Given the description of an element on the screen output the (x, y) to click on. 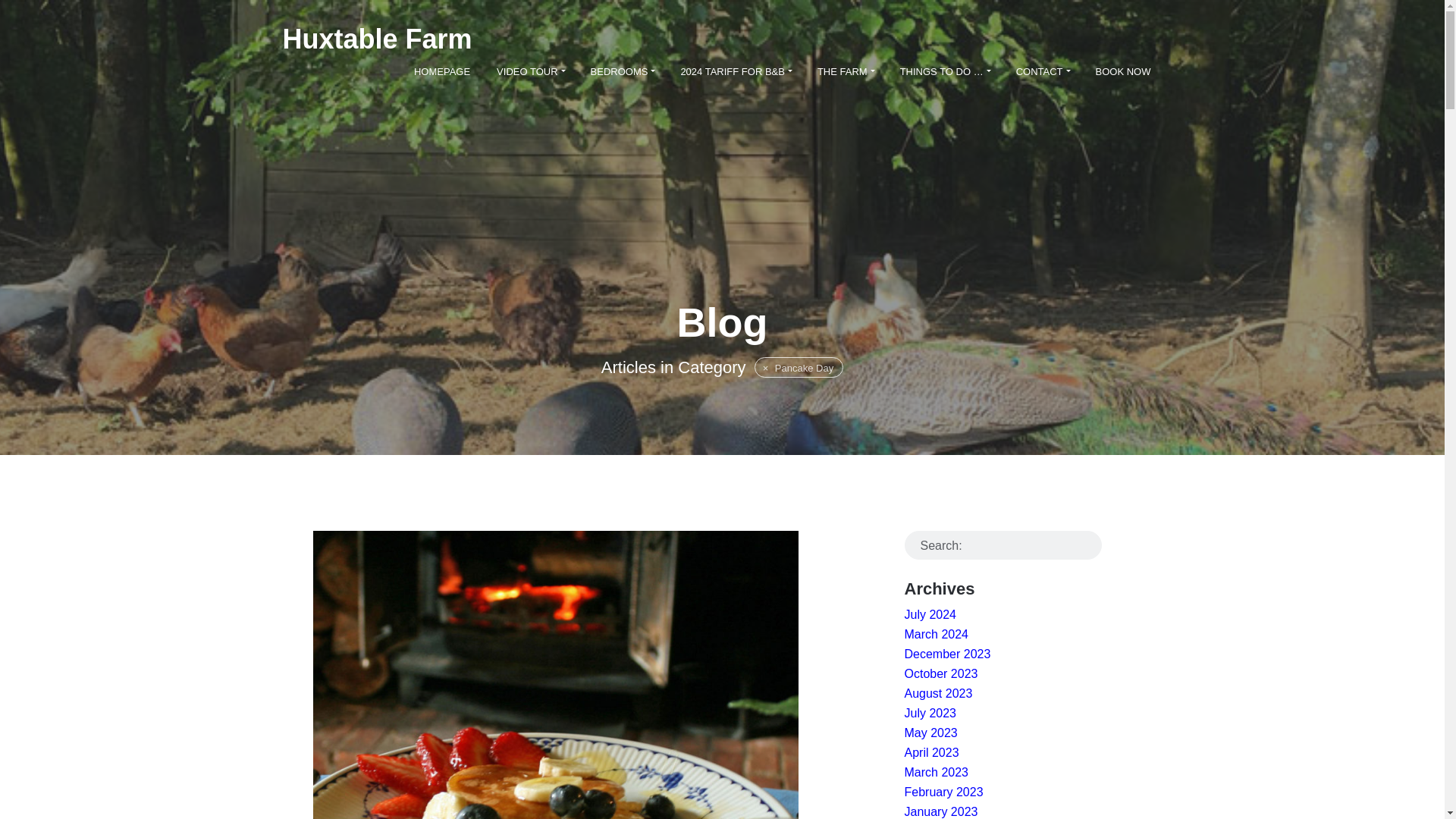
Search: (1002, 544)
BEDROOMS (622, 70)
VIDEO TOUR (529, 70)
HOMEPAGE (442, 70)
THE FARM (845, 70)
Huxtable Farm (376, 38)
